Given the description of an element on the screen output the (x, y) to click on. 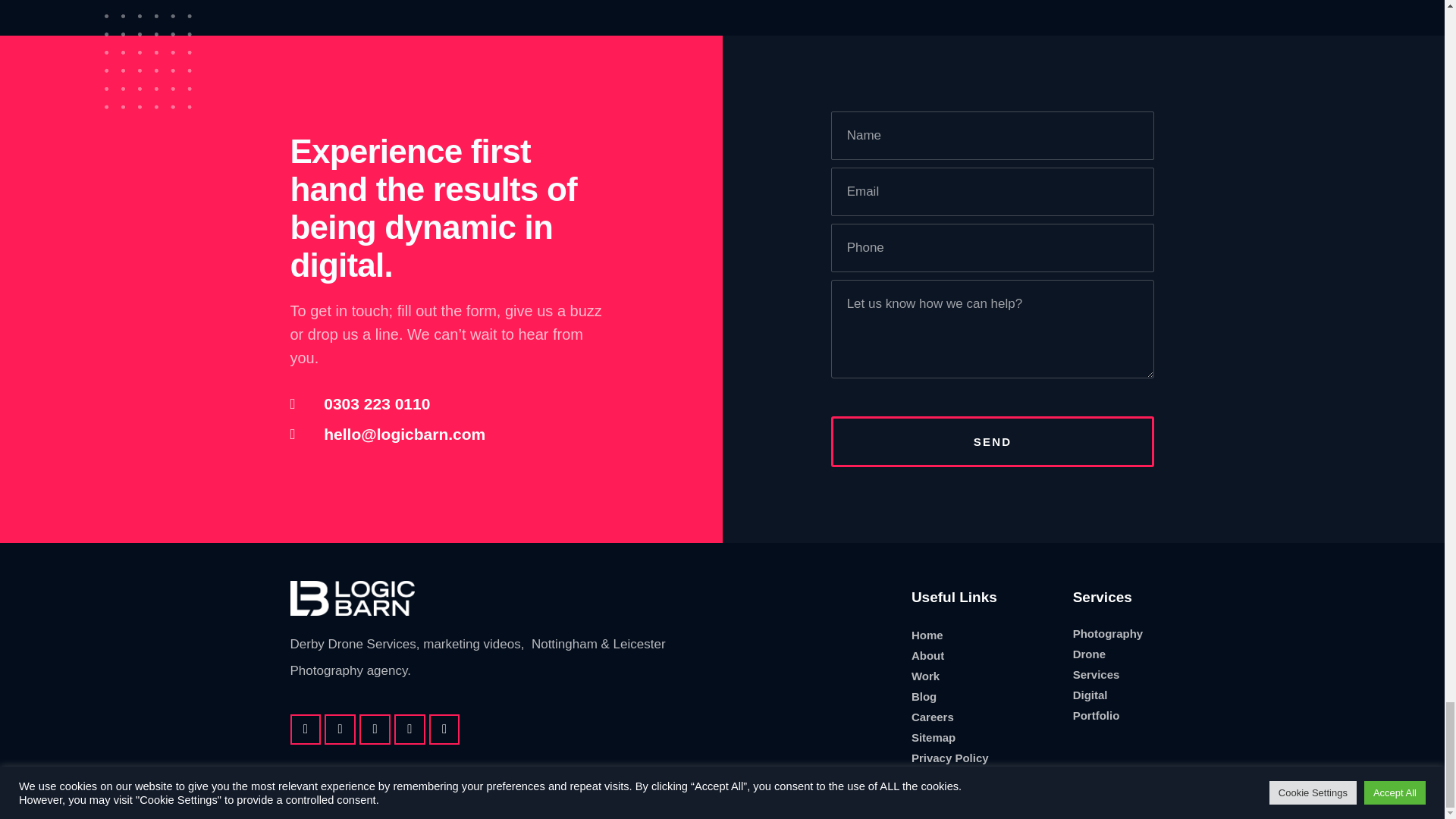
Instagram (374, 728)
Facebook (304, 728)
Youtube (444, 728)
WooCommerce E-Commerce Design 6 (148, 54)
Digital Portfolio (1108, 704)
Sitemap (984, 737)
Privacy Policy (984, 757)
0303 223 0110 (451, 403)
Drone Services (1108, 663)
Work (984, 675)
Blog (984, 696)
SEND (992, 441)
About (984, 655)
Home (984, 634)
Twitter (409, 728)
